Given the description of an element on the screen output the (x, y) to click on. 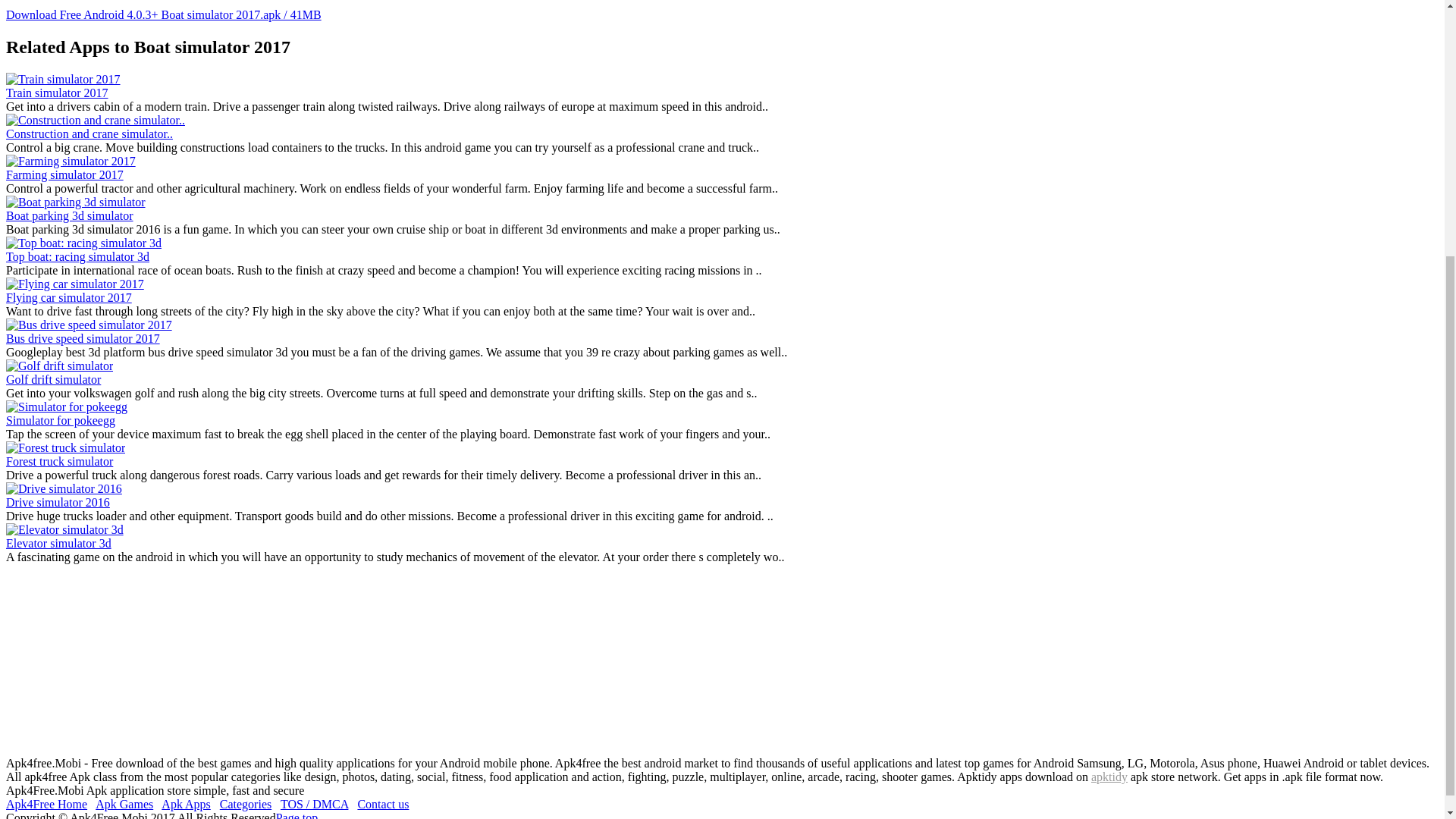
Apk Apps (185, 803)
Contact us (382, 803)
Apk Games (124, 803)
Categories (244, 803)
apktidy (1108, 776)
Apk4Free Home (46, 803)
